Given the description of an element on the screen output the (x, y) to click on. 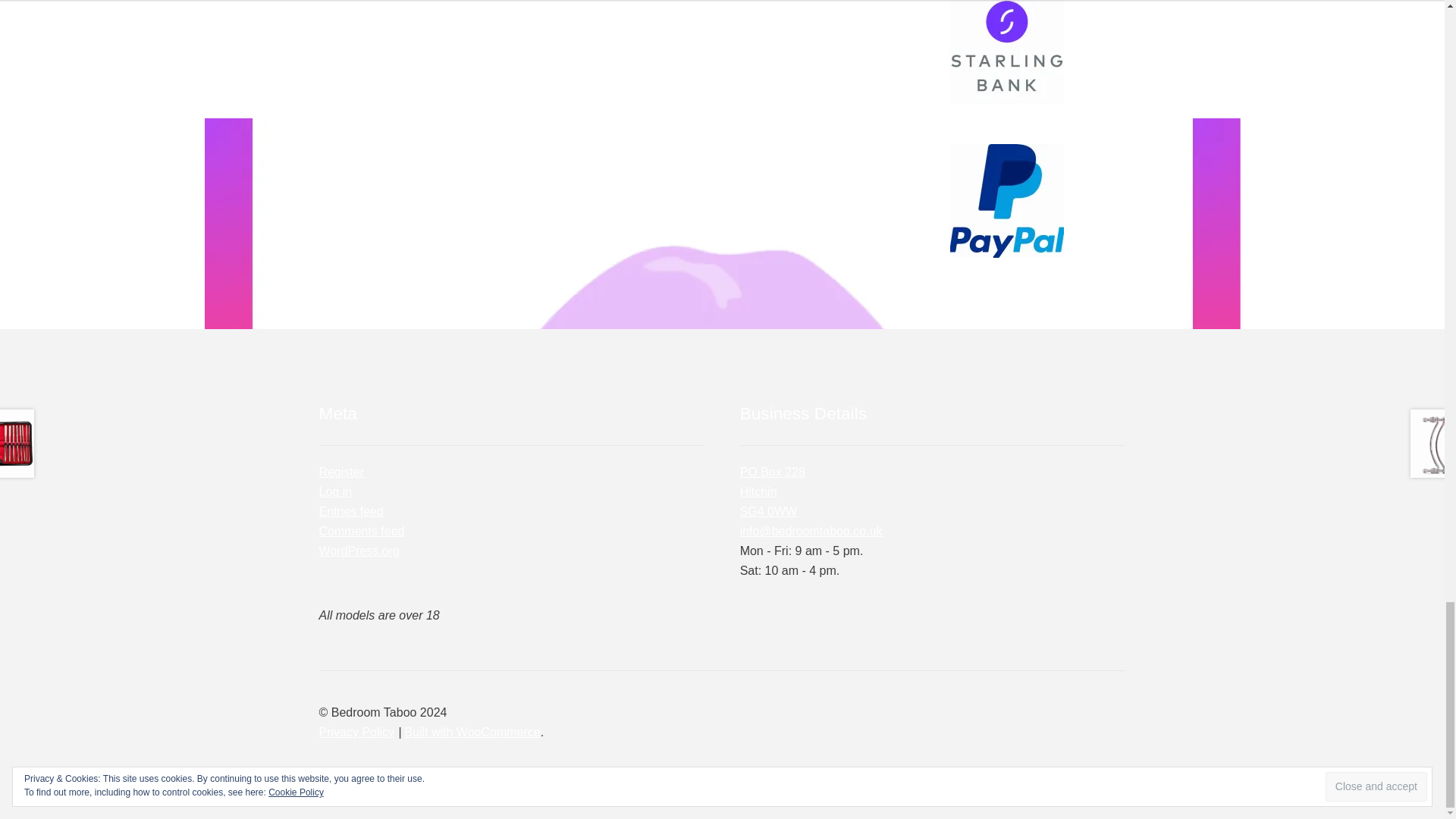
WooCommerce - The Best eCommerce Platform for WordPress (472, 731)
